Given the description of an element on the screen output the (x, y) to click on. 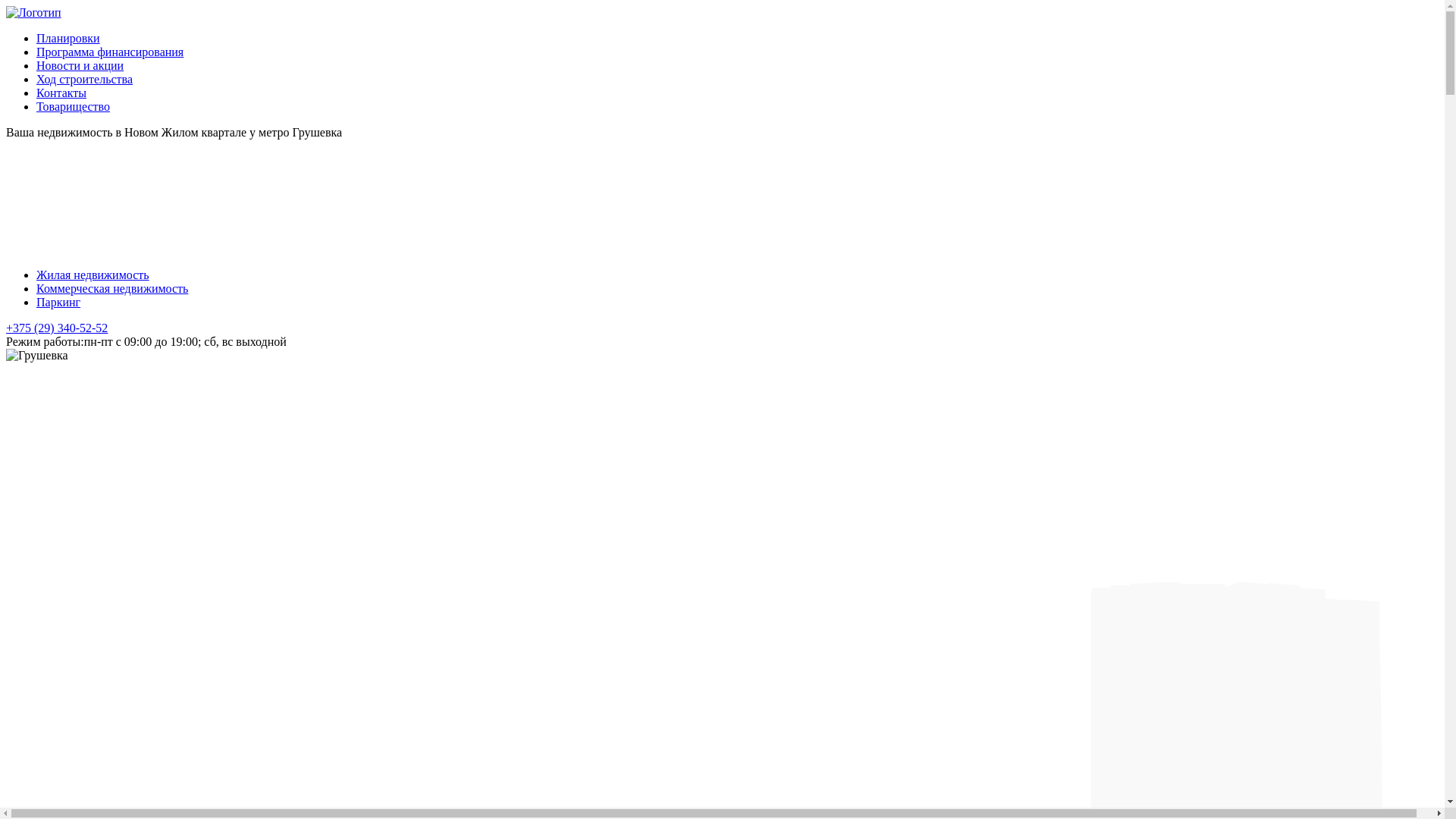
+375 (29) 340-52-52 Element type: text (56, 327)
